Given the description of an element on the screen output the (x, y) to click on. 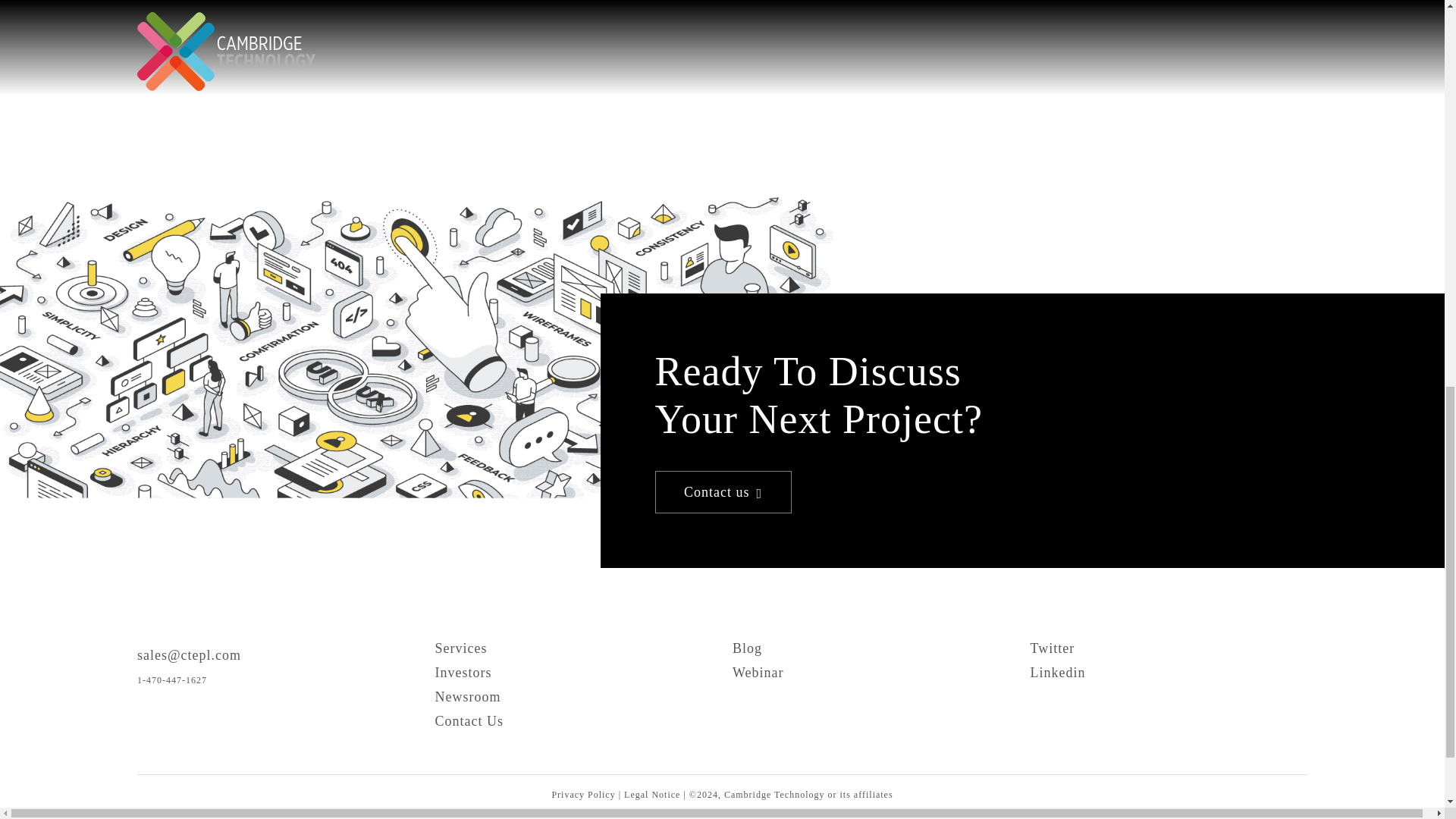
Contact us (723, 491)
